Given the description of an element on the screen output the (x, y) to click on. 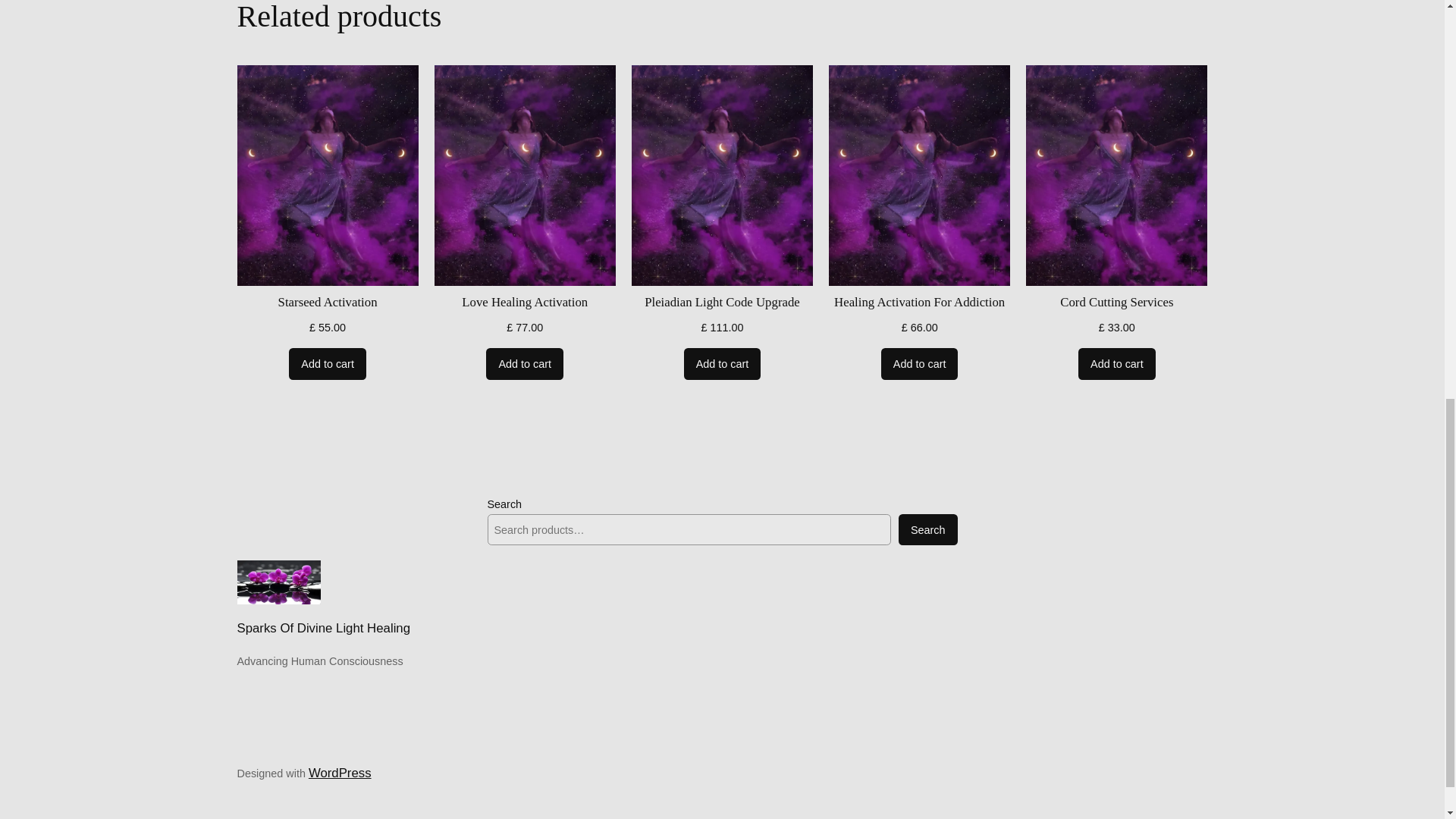
Sparks Of Divine Light Healing (322, 627)
Add to cart (327, 364)
Add to cart (1117, 364)
Search (928, 530)
WordPress (339, 772)
Add to cart (919, 364)
Add to cart (722, 364)
Add to cart (524, 364)
